Given the description of an element on the screen output the (x, y) to click on. 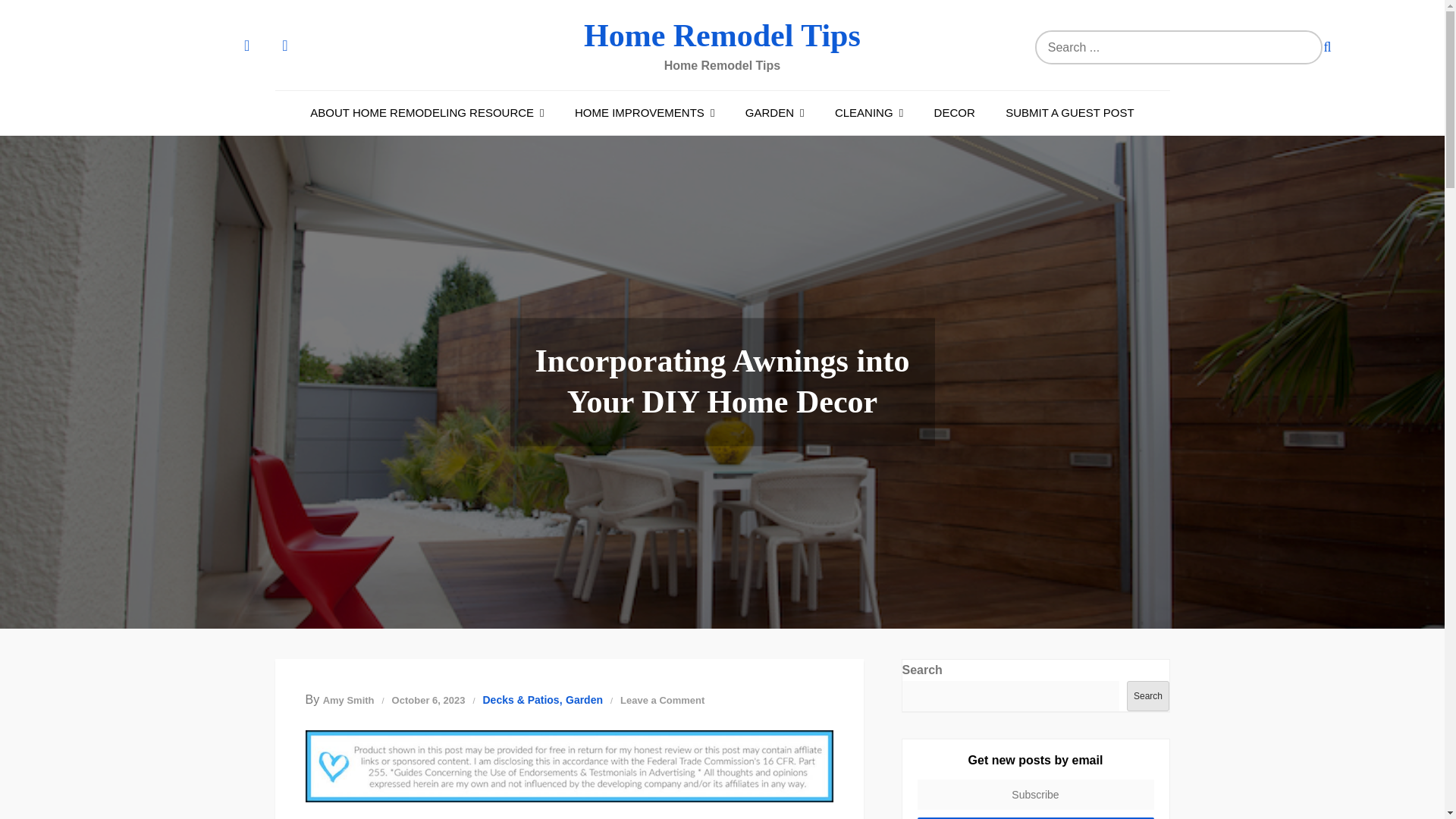
Search for: (1178, 47)
DECOR (954, 112)
GARDEN (775, 112)
Garden (584, 699)
CLEANING (869, 112)
SUBMIT A GUEST POST (1069, 112)
Home Remodel Tips (721, 35)
Search (1326, 47)
October 6, 2023 (428, 699)
